Given the description of an element on the screen output the (x, y) to click on. 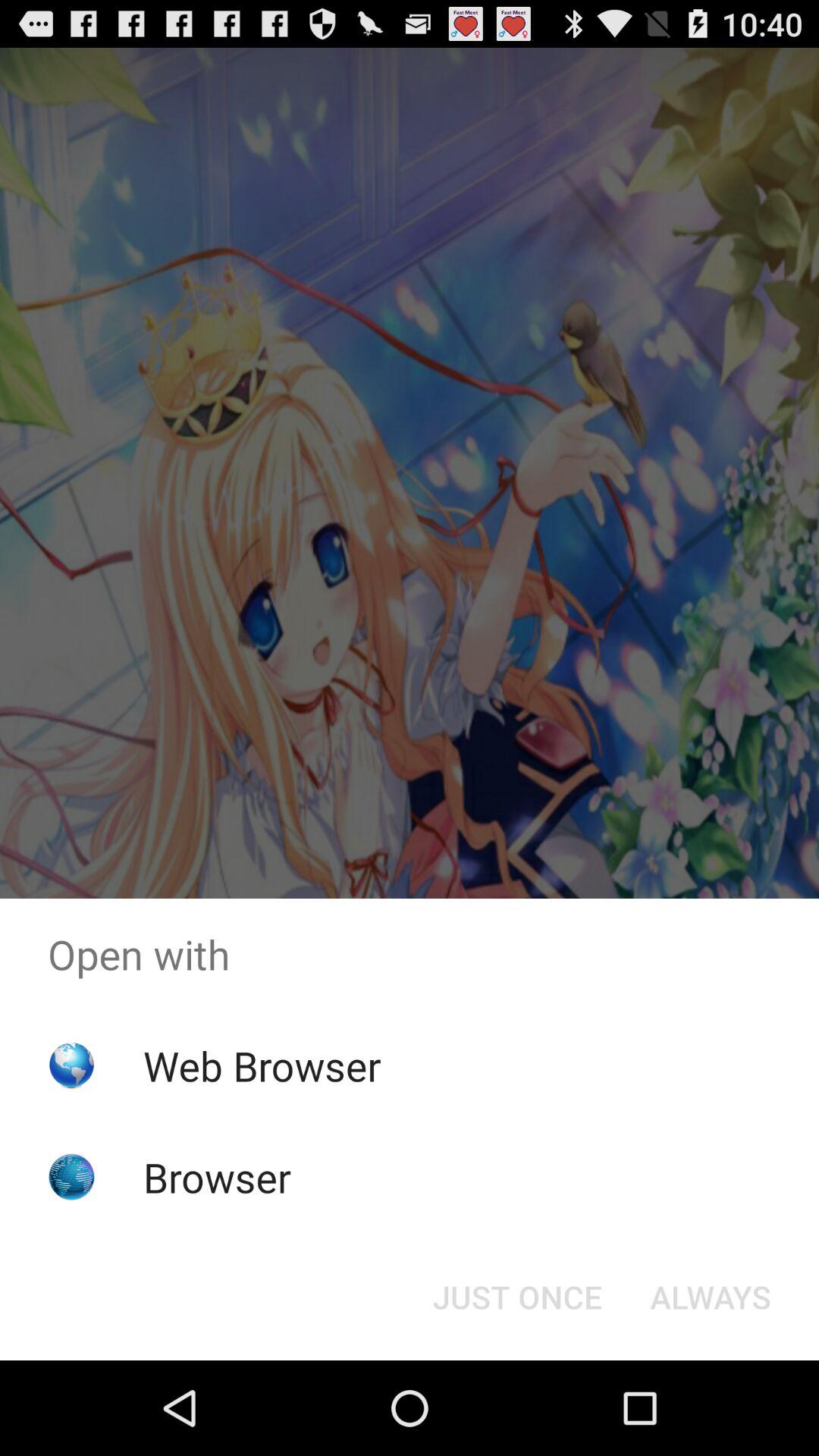
open the web browser app (262, 1065)
